Given the description of an element on the screen output the (x, y) to click on. 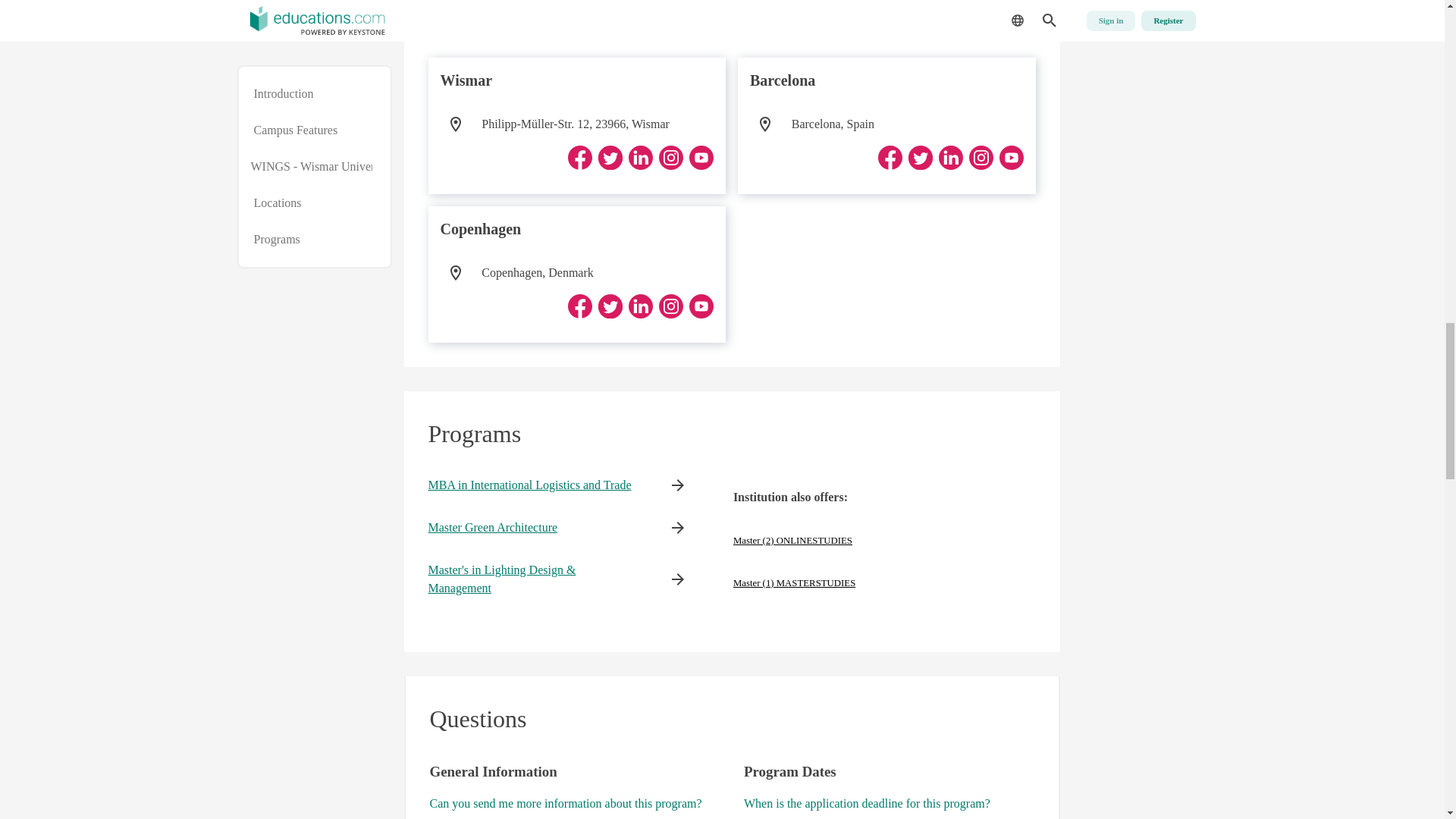
twitter (920, 157)
youtube (1010, 157)
facebook (579, 306)
instagram (980, 157)
twitter (610, 157)
twitter (610, 306)
linkedin (950, 157)
instagram (670, 306)
linkedin (640, 157)
linkedin (640, 306)
